Given the description of an element on the screen output the (x, y) to click on. 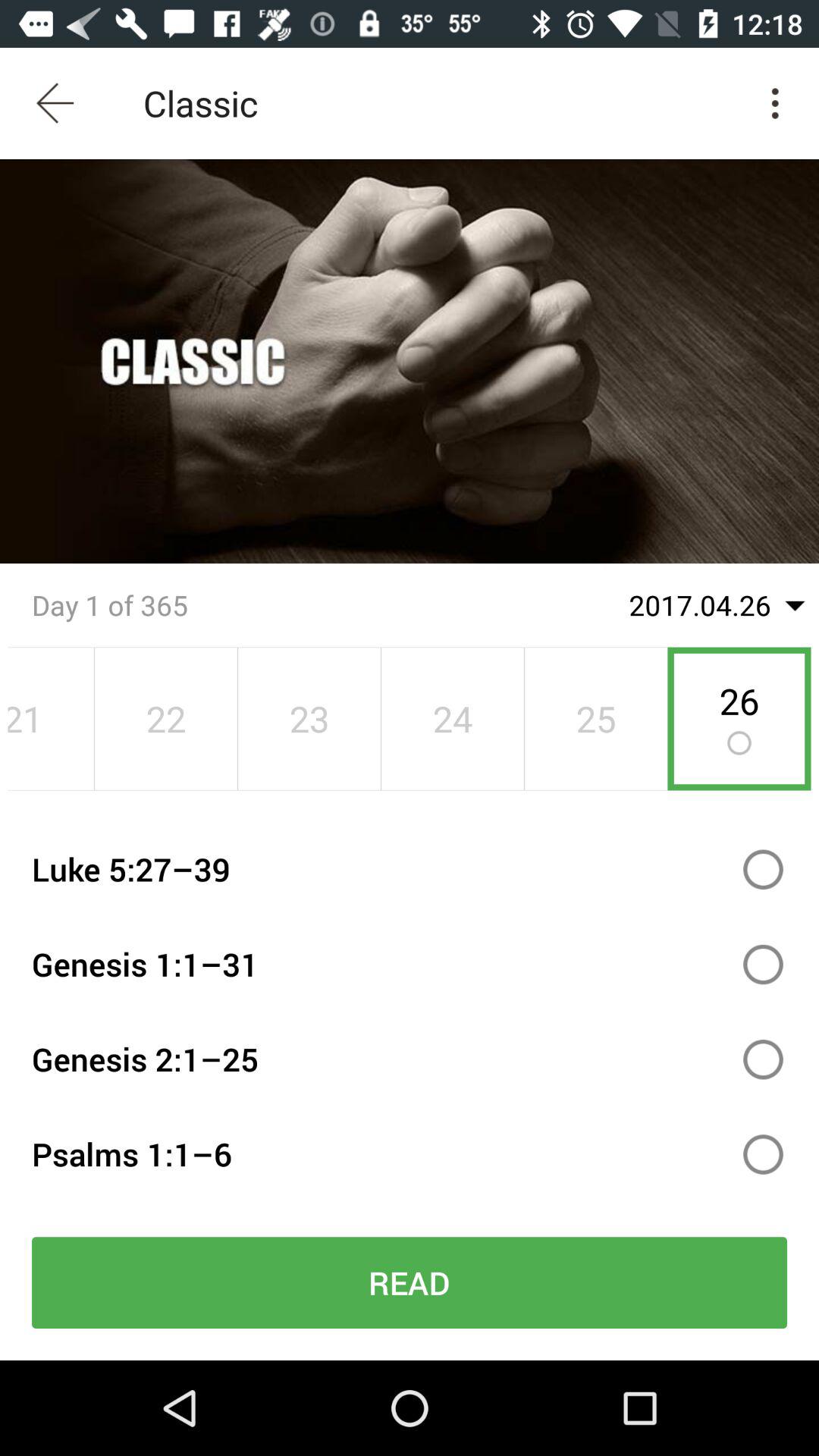
select radio button (763, 1154)
